Given the description of an element on the screen output the (x, y) to click on. 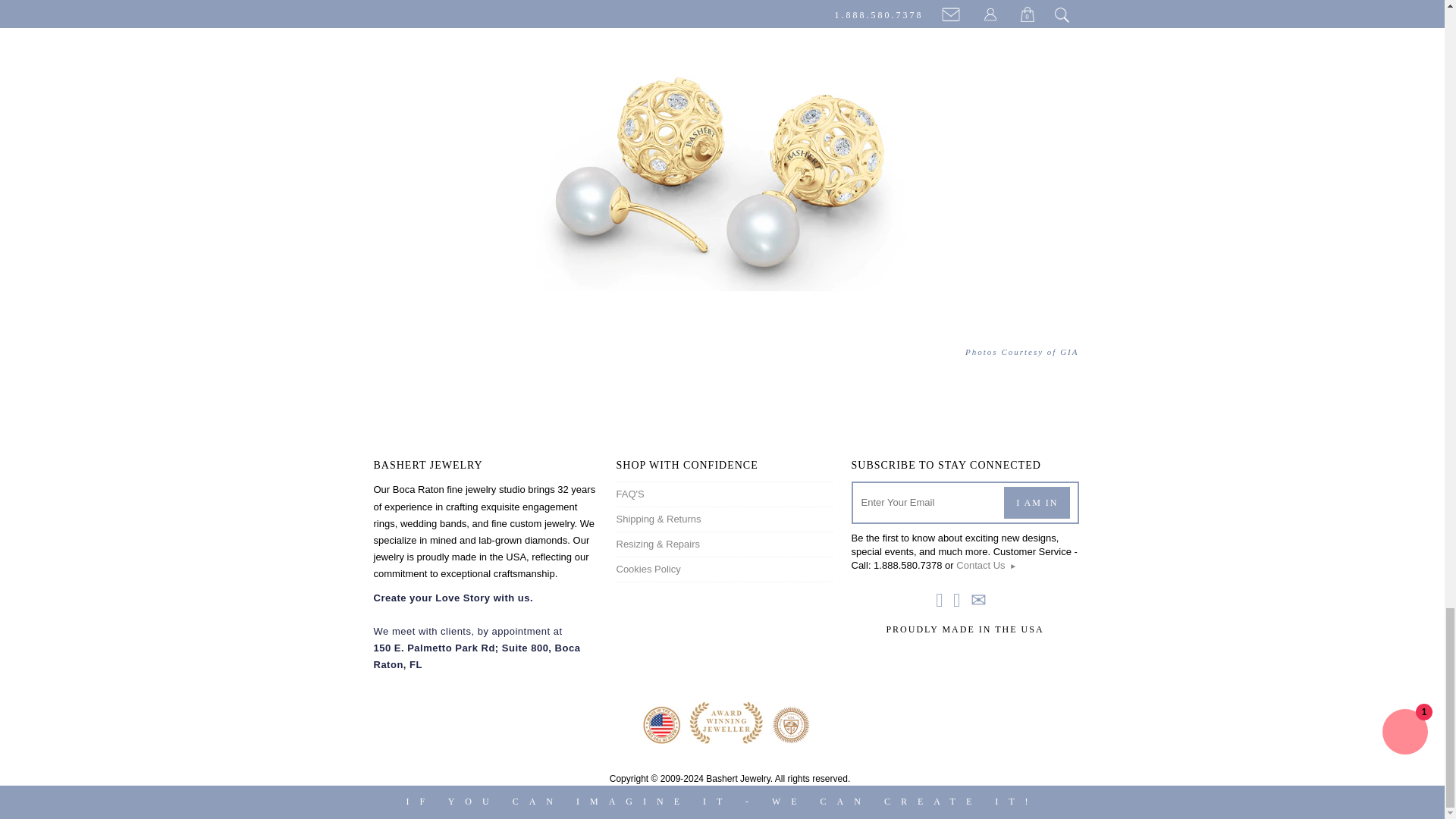
Cookies Policy (647, 568)
FAQ'S (629, 493)
Contact Bashert Jewelry (986, 564)
I AM IN (1037, 502)
